Given the description of an element on the screen output the (x, y) to click on. 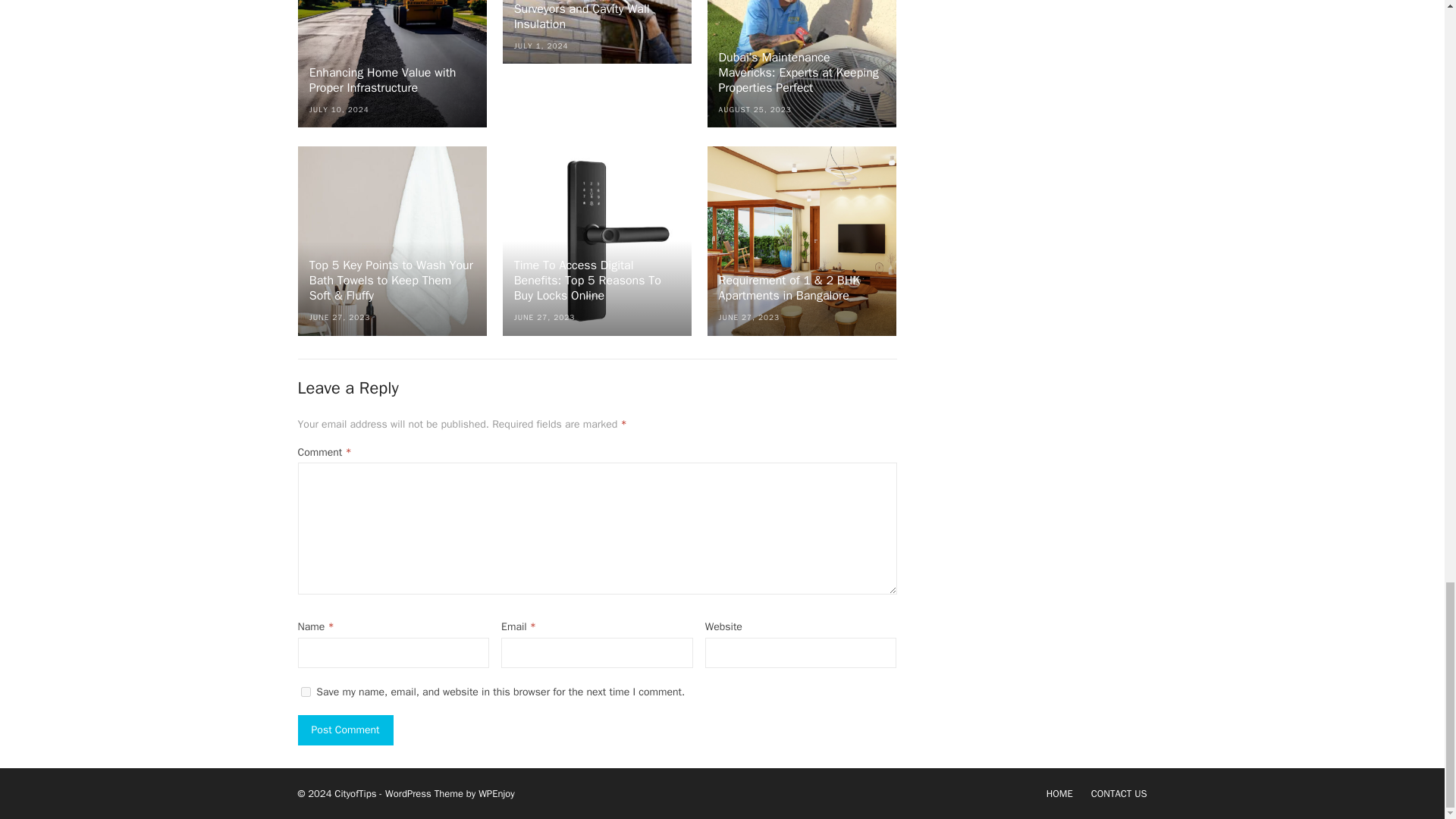
yes (304, 691)
Post Comment (345, 729)
